Given the description of an element on the screen output the (x, y) to click on. 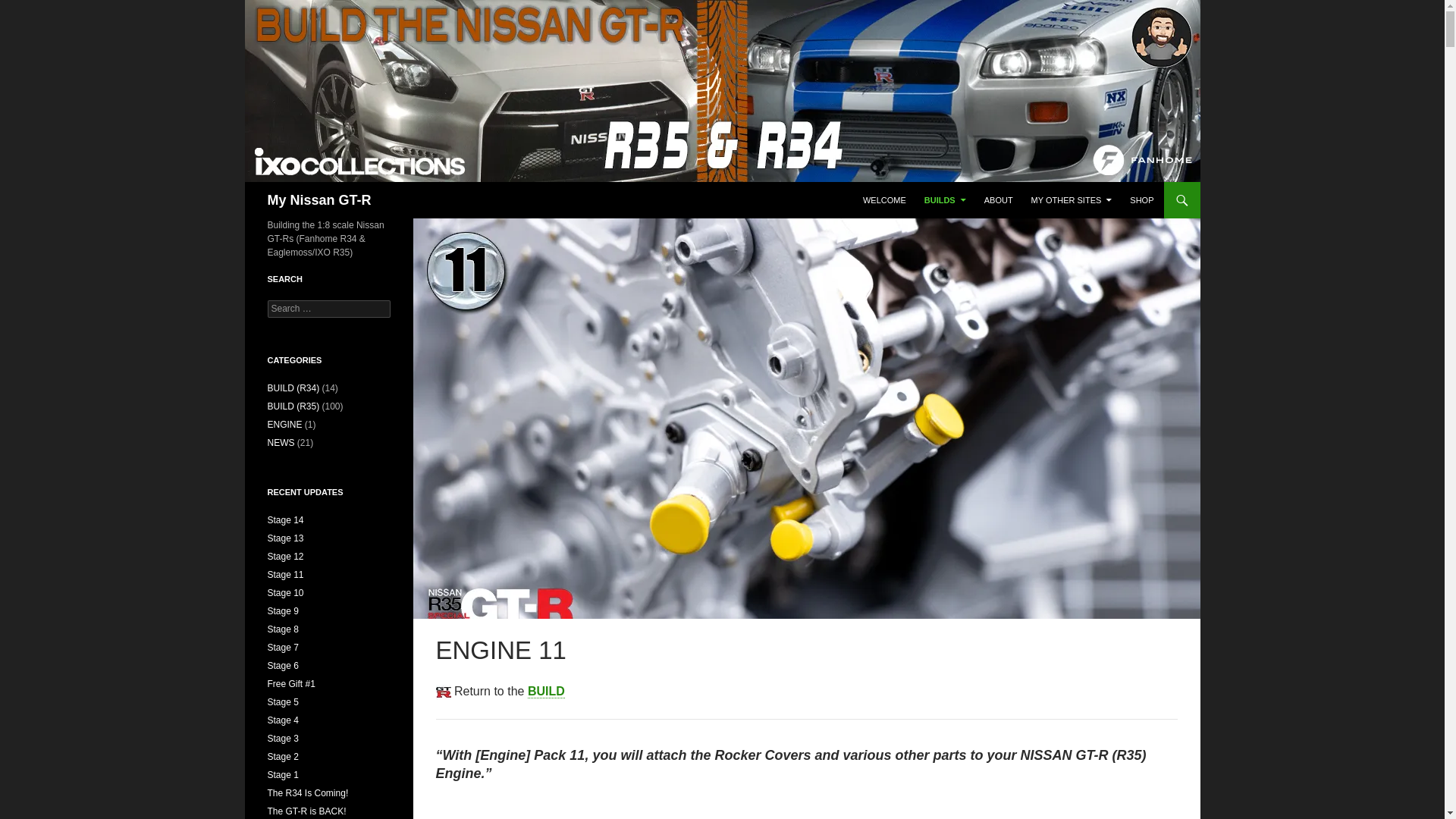
WELCOME (884, 199)
BUILDS (945, 199)
My Nissan GT-R (318, 199)
